Given the description of an element on the screen output the (x, y) to click on. 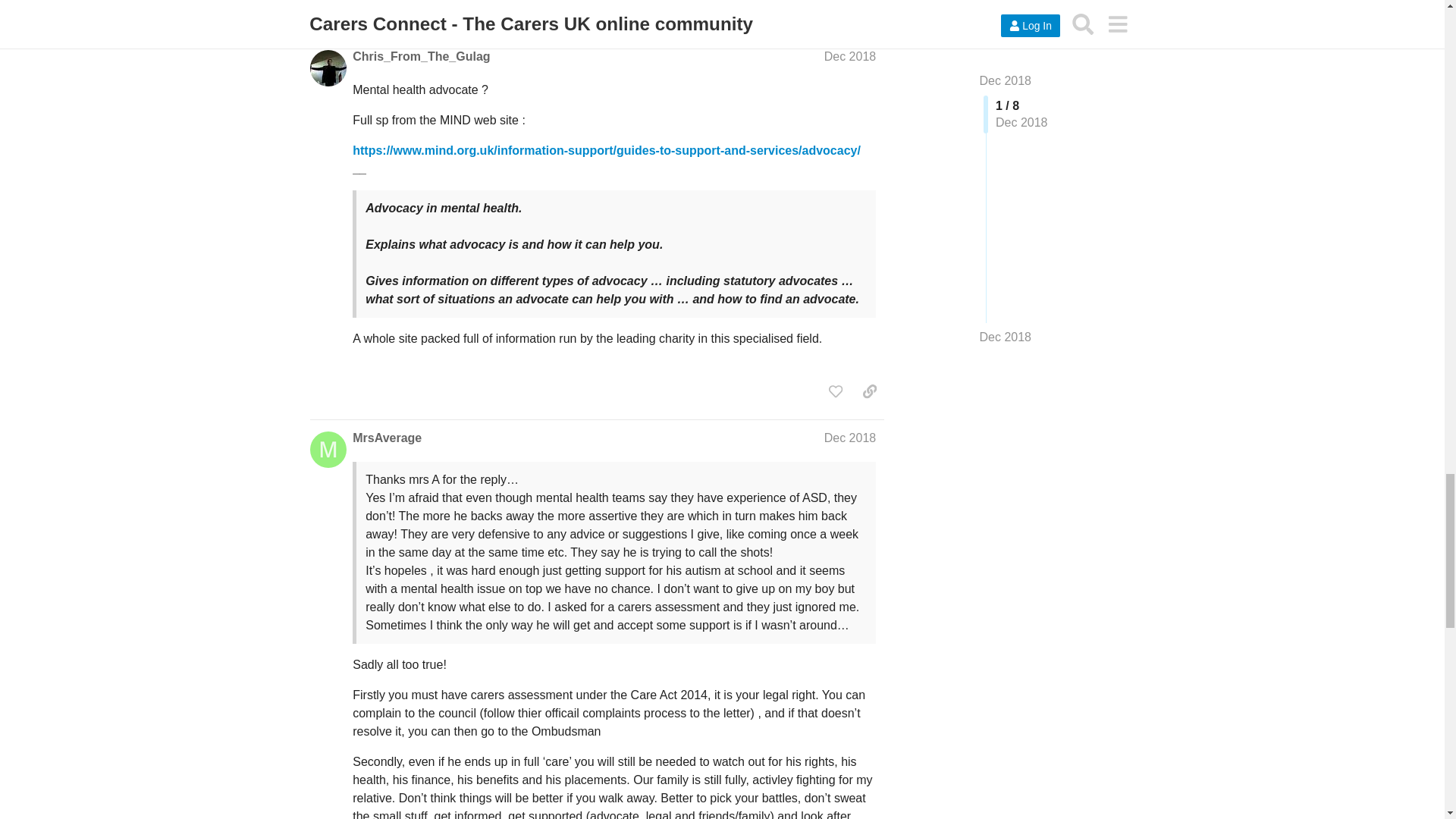
Tips and guidance for using the new forum.pdf (453, 481)
